Given the description of an element on the screen output the (x, y) to click on. 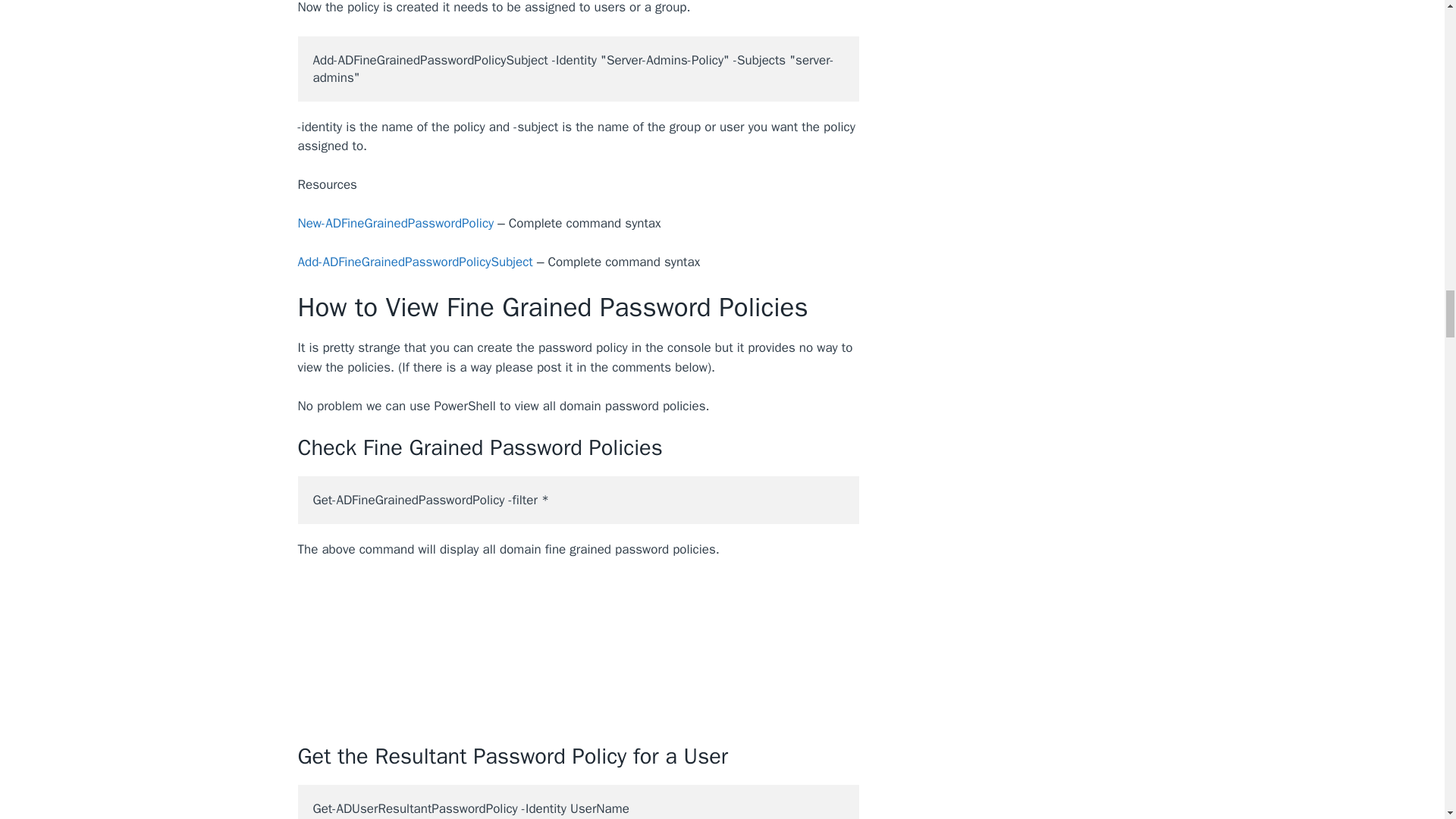
Add-ADFineGrainedPasswordPolicySubject (414, 261)
New-ADFineGrainedPasswordPolicy (395, 222)
